Given the description of an element on the screen output the (x, y) to click on. 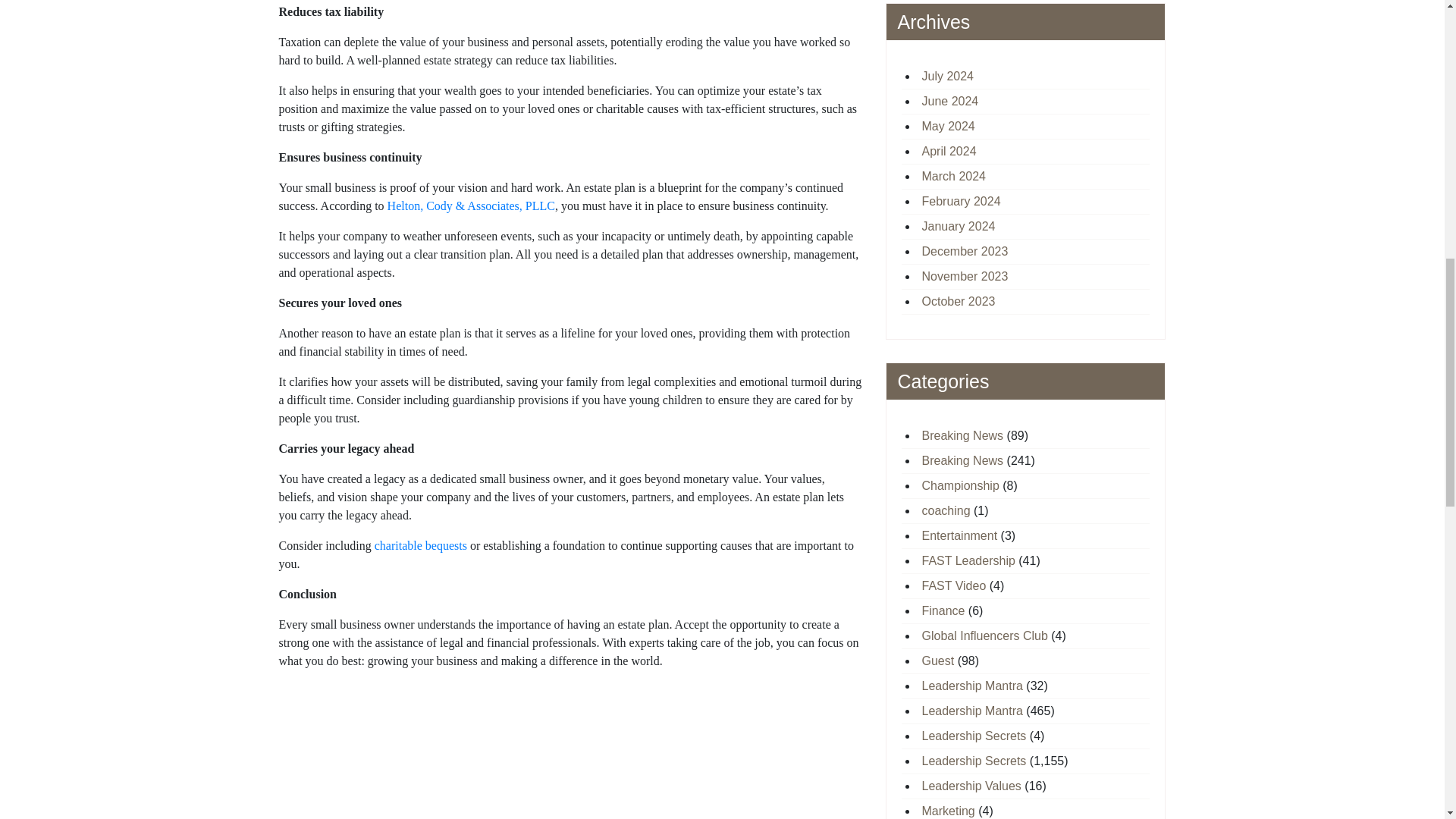
February 2024 (961, 200)
May 2024 (948, 125)
Breaking News (962, 435)
July 2024 (947, 75)
Entertainment (959, 535)
Championship (959, 485)
coaching (946, 509)
charitable bequests (420, 545)
October 2023 (958, 300)
November 2023 (965, 276)
January 2024 (958, 226)
FAST Video (954, 585)
March 2024 (954, 175)
FAST Leadership (967, 559)
Breaking News (962, 459)
